Given the description of an element on the screen output the (x, y) to click on. 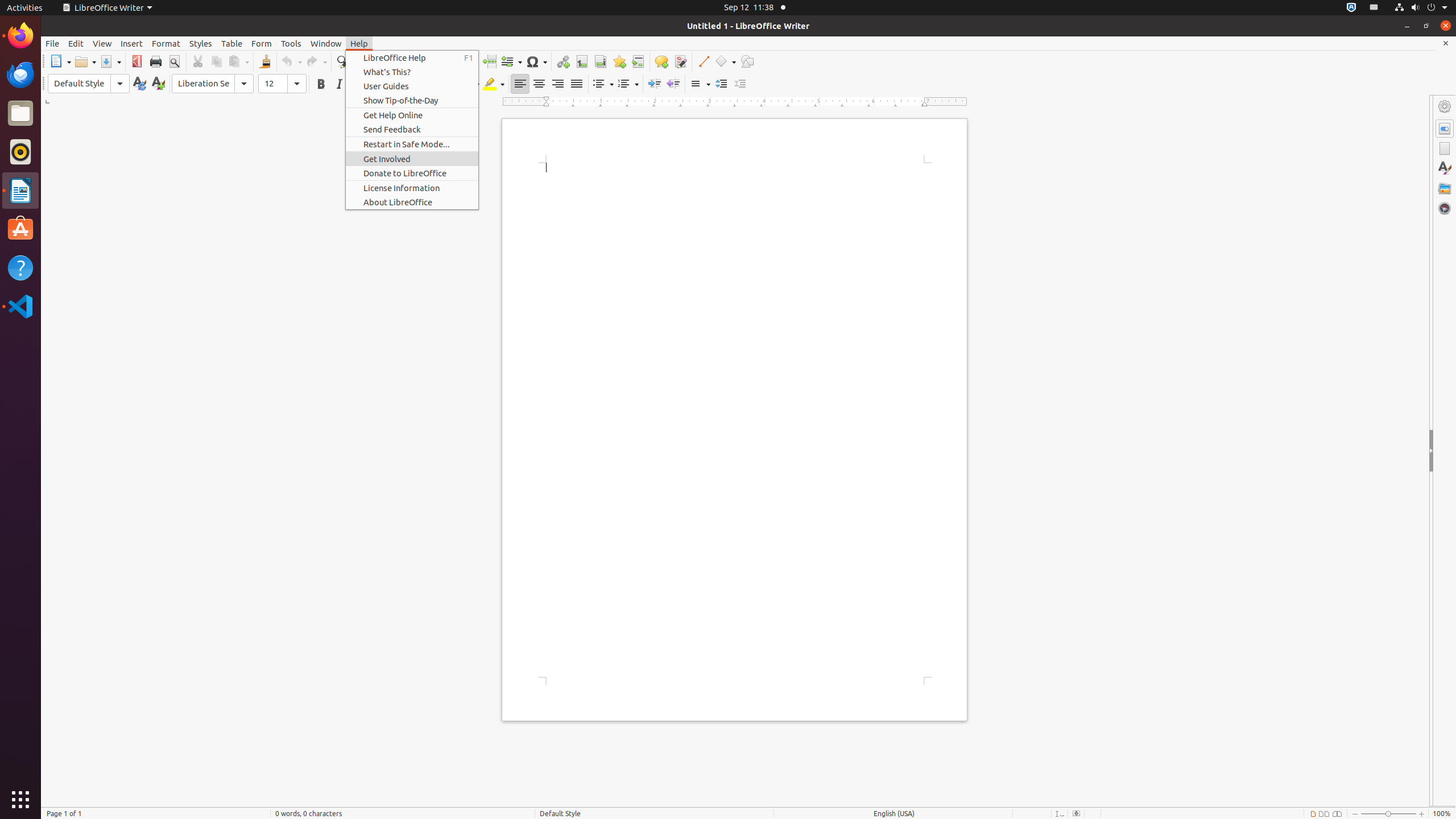
LibreOffice Writer Element type: push-button (20, 190)
About LibreOffice Element type: menu-item (411, 202)
License Information Element type: menu-item (411, 187)
Show Tip-of-the-Day Element type: menu-item (411, 100)
Footnote Element type: push-button (581, 61)
